Given the description of an element on the screen output the (x, y) to click on. 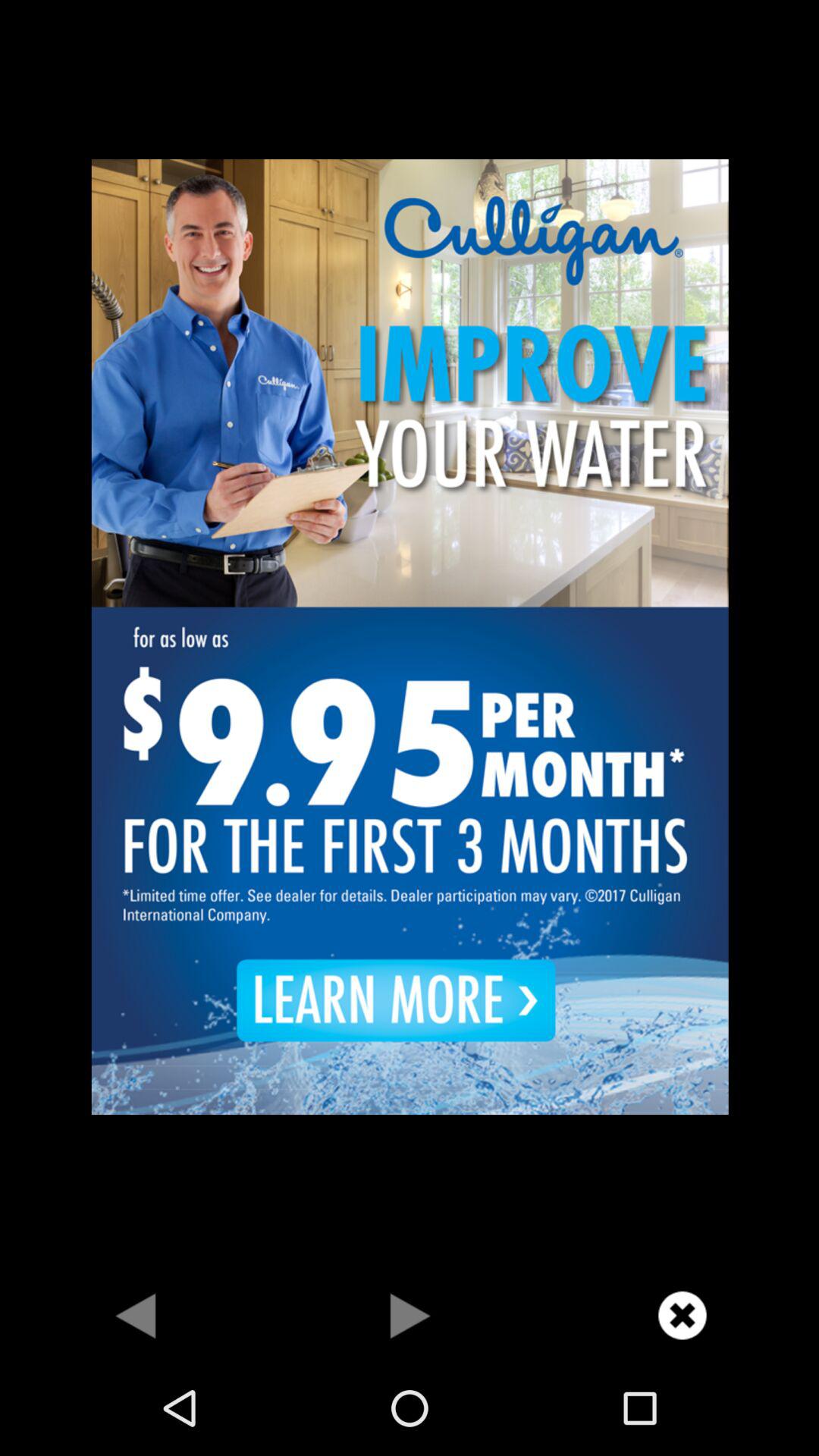
playing option (409, 1315)
